Given the description of an element on the screen output the (x, y) to click on. 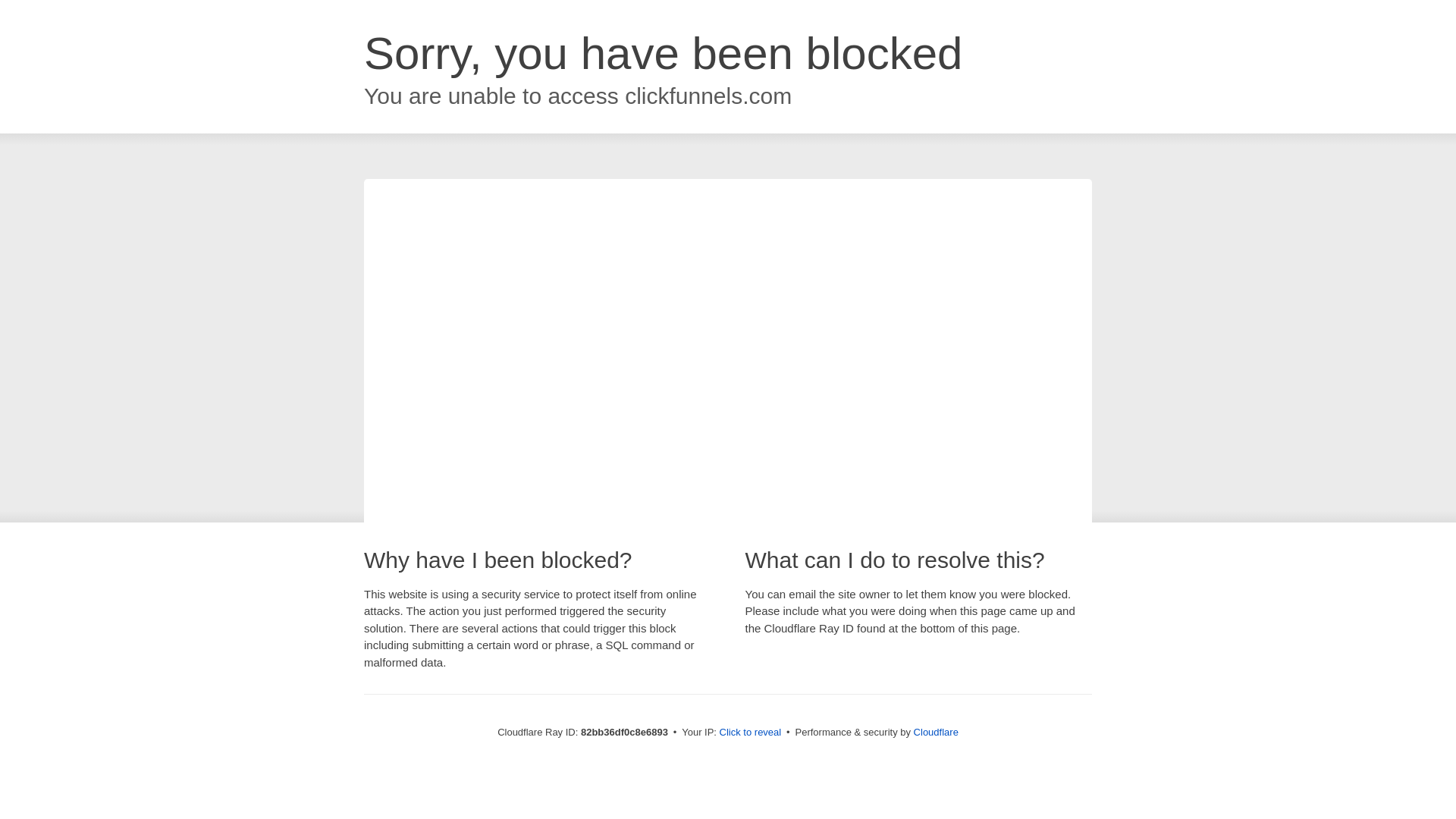
Click to reveal Element type: text (750, 732)
Cloudflare Element type: text (935, 731)
